Given the description of an element on the screen output the (x, y) to click on. 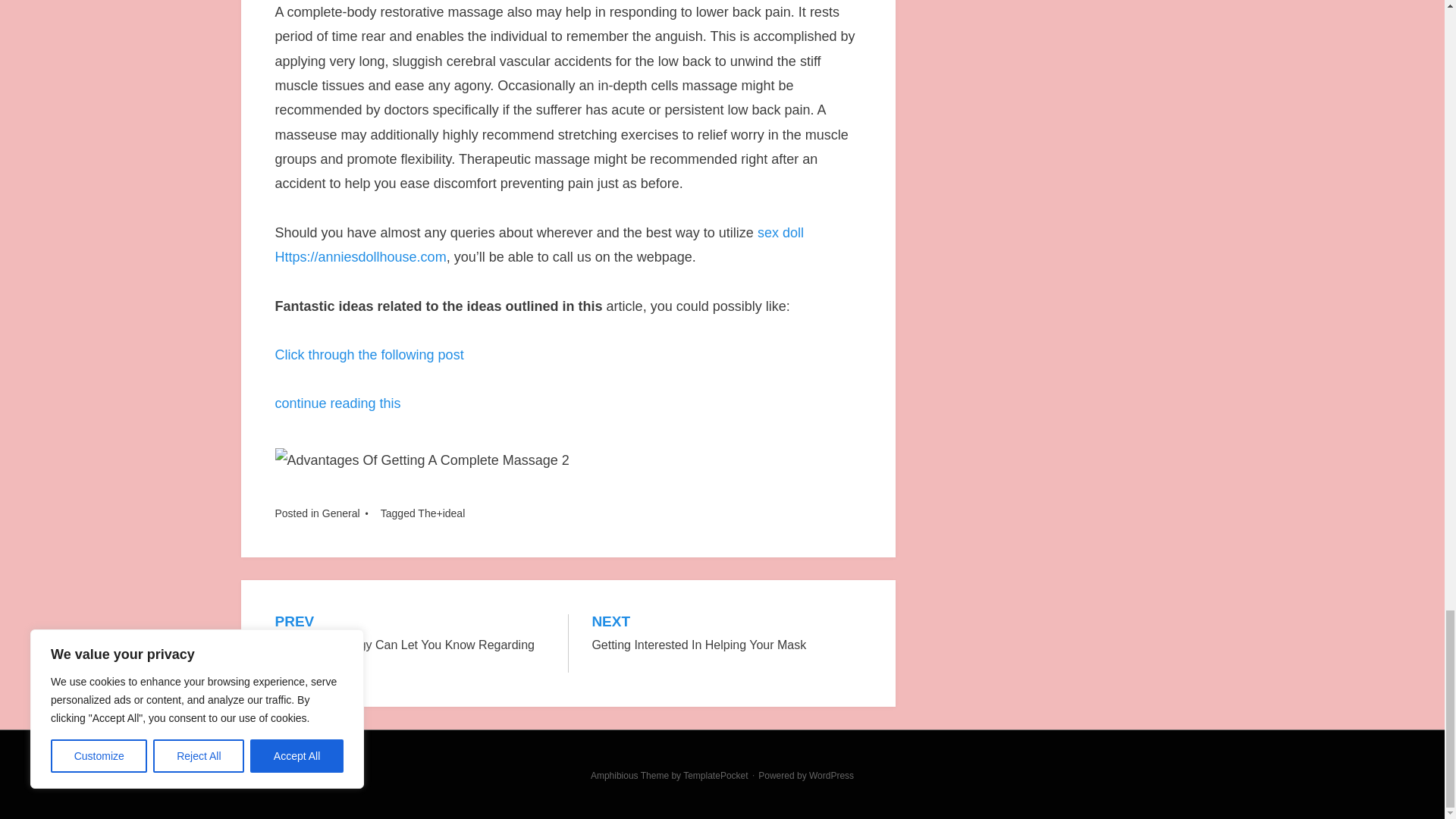
TemplatePocket (726, 634)
WordPress (715, 775)
General (409, 643)
Click through the following post (831, 775)
continue reading this (340, 512)
